Given the description of an element on the screen output the (x, y) to click on. 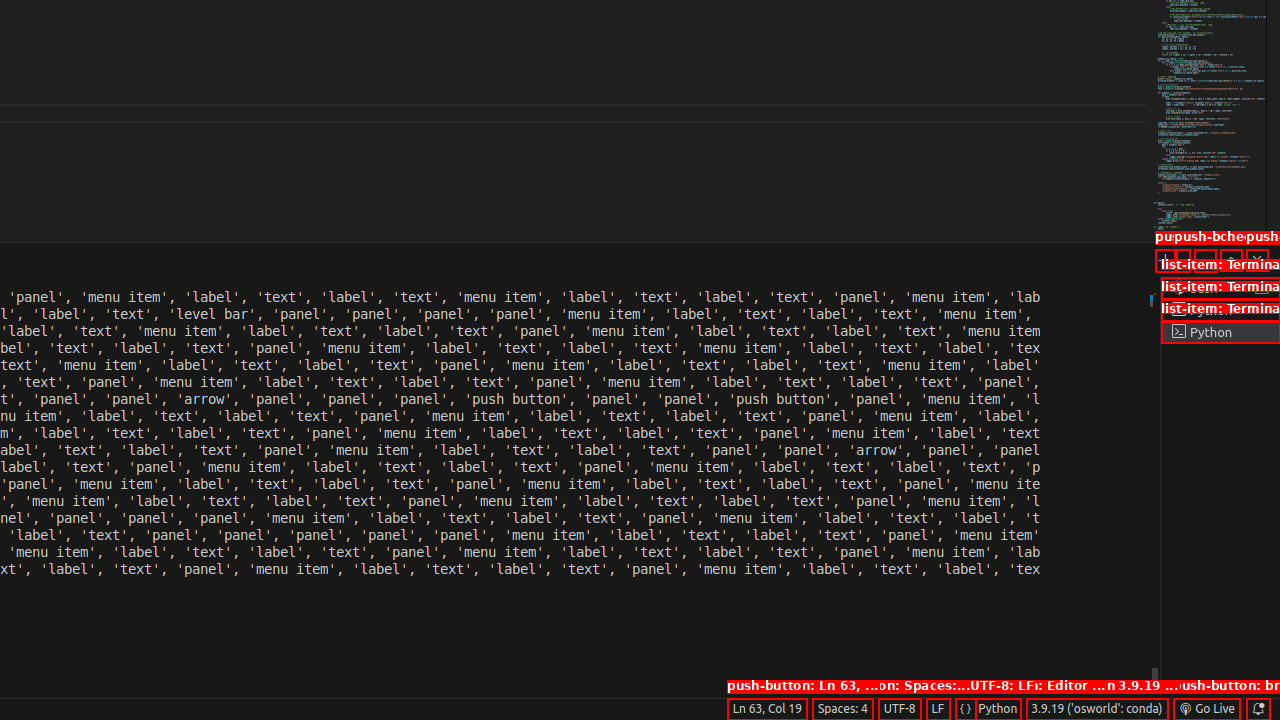
Terminal 2 Python Element type: list-item (1220, 310)
Editor Language Status: Auto Import Completions: false, next: Type Checking: off Element type: push-button (965, 709)
Launch Profile... Element type: push-button (1182, 260)
UTF-8 Element type: push-button (899, 709)
Maximize Panel Size Element type: check-box (1231, 260)
